Given the description of an element on the screen output the (x, y) to click on. 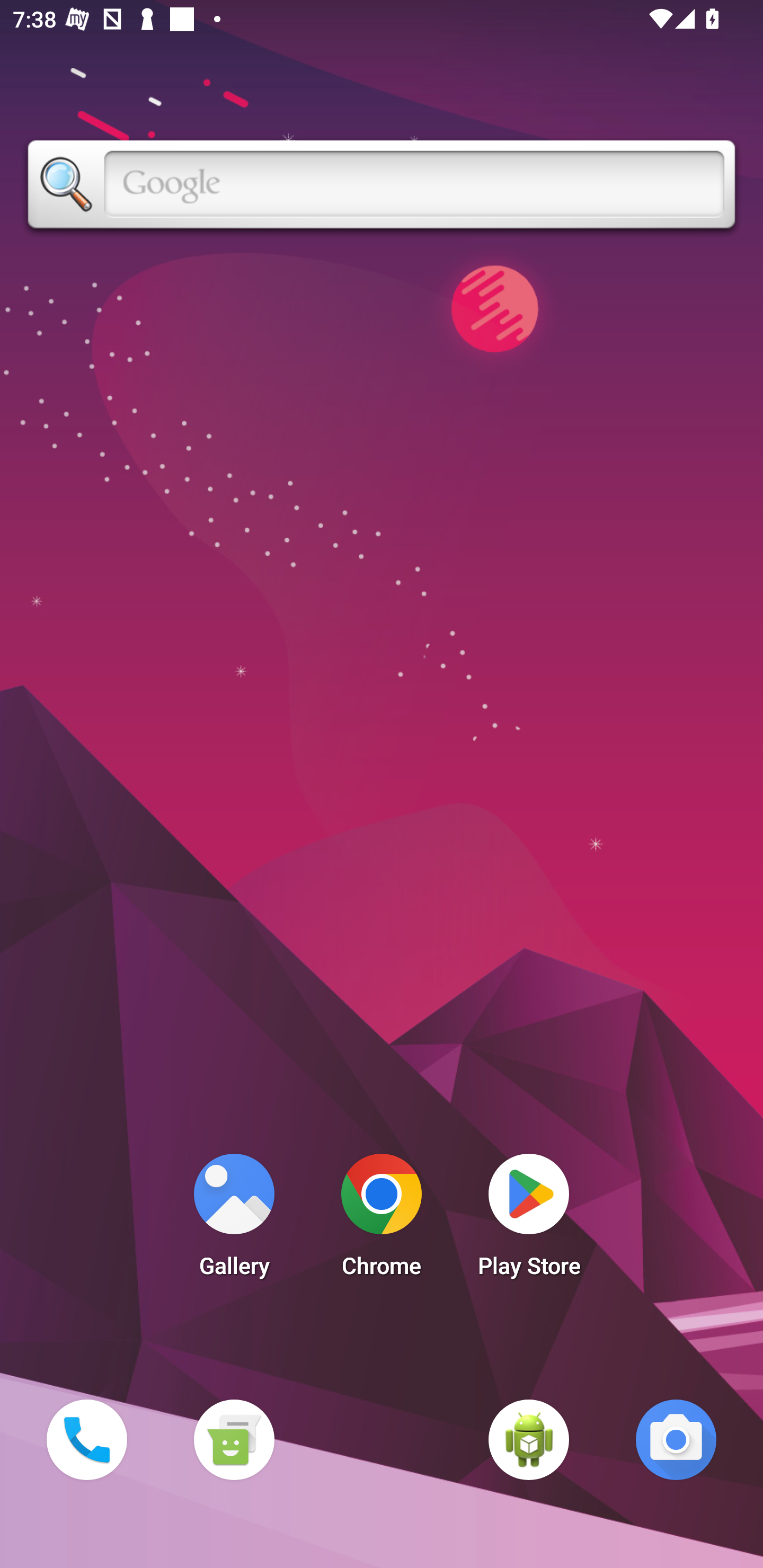
Gallery (233, 1220)
Chrome (381, 1220)
Play Store (528, 1220)
Phone (86, 1439)
Messaging (233, 1439)
WebView Browser Tester (528, 1439)
Camera (676, 1439)
